Given the description of an element on the screen output the (x, y) to click on. 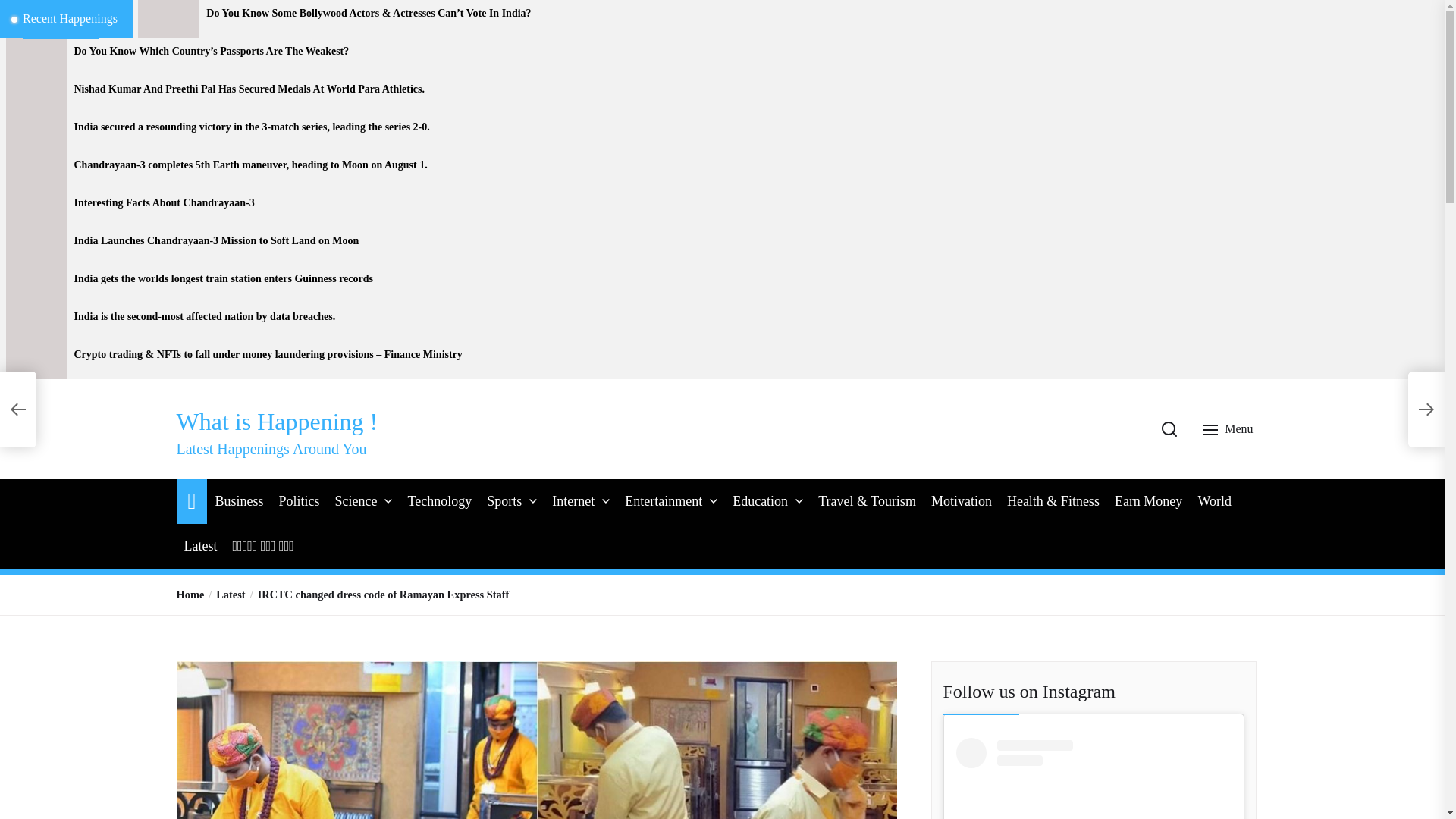
Menu (1229, 429)
Sports (503, 501)
Internet (572, 501)
What is Happening ! (276, 420)
Technology (439, 501)
Business (238, 501)
Science (355, 501)
